Given the description of an element on the screen output the (x, y) to click on. 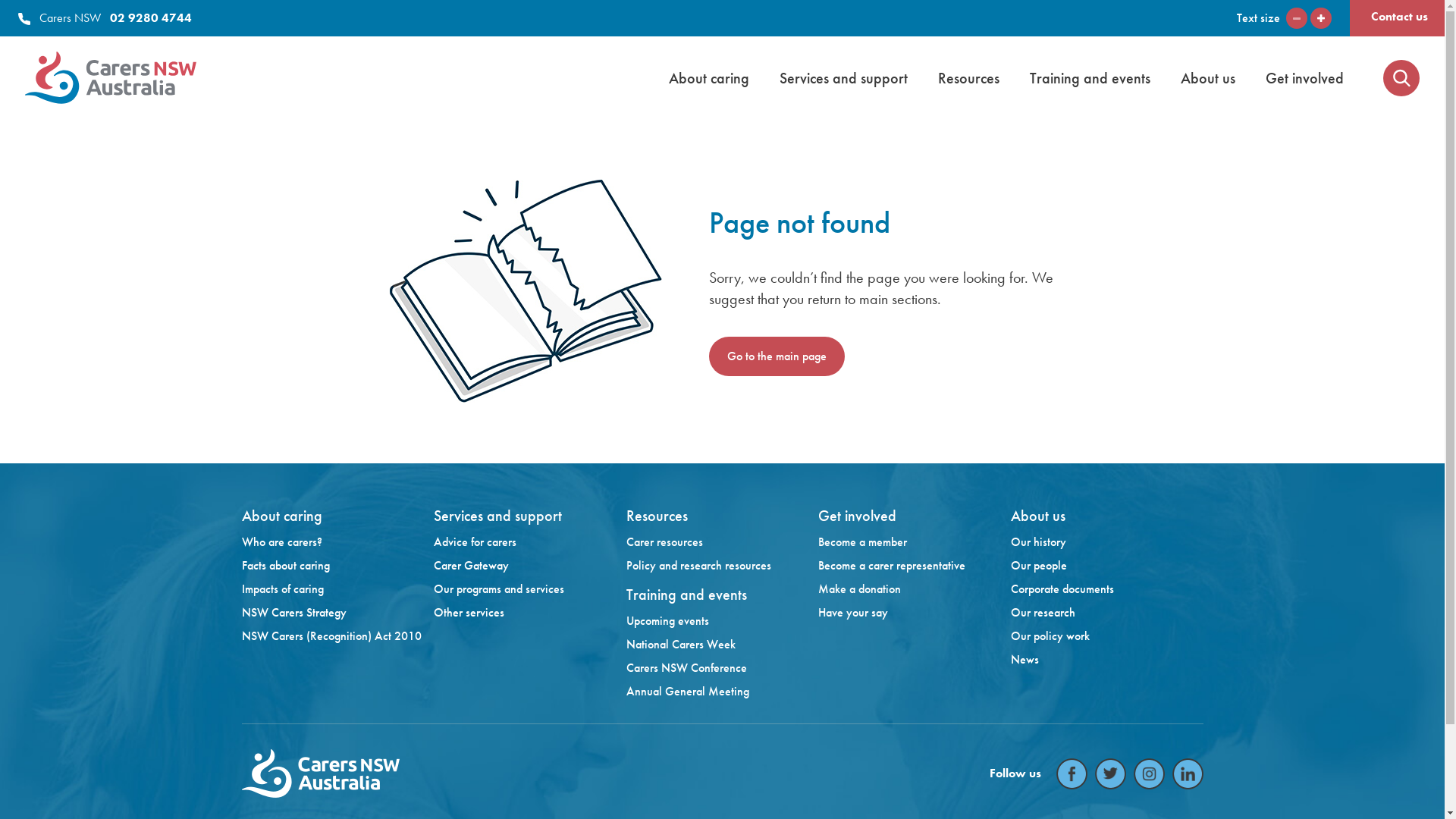
About us Element type: text (1207, 77)
Impacts of caring Element type: text (337, 588)
Become a carer representative Element type: text (914, 565)
Training and events Element type: text (686, 594)
Get involved Element type: text (857, 515)
Our research Element type: text (1106, 612)
Resources Element type: text (968, 77)
Carers NSW Conference Element type: text (722, 667)
Make a donation Element type: text (914, 588)
Who are carers? Element type: text (337, 541)
Our people Element type: text (1106, 565)
Carer resources Element type: text (722, 541)
Go to the main page Element type: text (776, 356)
Our policy work Element type: text (1106, 635)
Annual General Meeting Element type: text (722, 691)
Our programs and services Element type: text (529, 588)
About caring Element type: text (281, 515)
Upcoming events Element type: text (722, 620)
NSW Carers (Recognition) Act 2010 Element type: text (337, 635)
Services and support Element type: text (497, 515)
NSW Carers Strategy Element type: text (337, 612)
News Element type: text (1106, 659)
Resources Element type: text (656, 515)
National Carers Week Element type: text (722, 644)
Training and events Element type: text (1089, 77)
Have your say Element type: text (914, 612)
Policy and research resources Element type: text (722, 565)
Get involved Element type: text (1304, 77)
Corporate documents Element type: text (1106, 588)
Contact us Element type: text (1399, 16)
Become a member Element type: text (914, 541)
Carer Gateway Element type: text (529, 565)
Other services Element type: text (529, 612)
Advice for carers Element type: text (529, 541)
Services and support Element type: text (843, 77)
Our history Element type: text (1106, 541)
About caring Element type: text (708, 77)
Facts about caring Element type: text (337, 565)
Carers NSW 02 9280 4744 Element type: text (104, 17)
About us Element type: text (1037, 515)
